Given the description of an element on the screen output the (x, y) to click on. 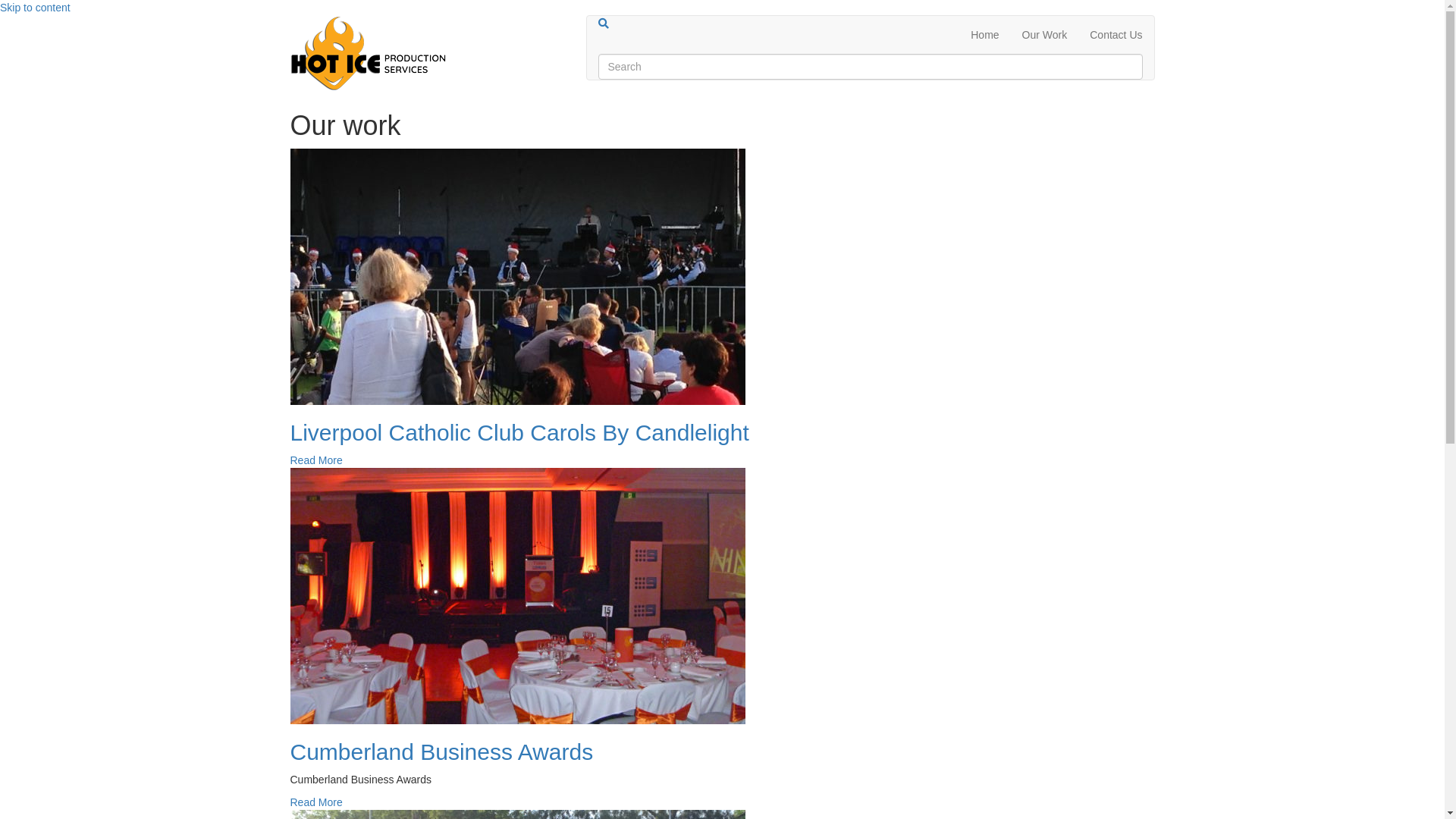
Read More Element type: text (315, 802)
Our Work Element type: text (1044, 34)
Type and press Enter to search. Element type: hover (869, 55)
Contact Us Element type: text (1115, 34)
Cumberland Business Awards Element type: hover (516, 594)
Liverpool Catholic Club Carols By Candlelight Element type: hover (516, 275)
Read More Element type: text (315, 460)
Cumberland Business Awards Element type: text (441, 751)
Skip to content Element type: text (35, 7)
Liverpool Catholic Club Carols By Candlelight Element type: text (518, 432)
Home Element type: text (984, 34)
